Given the description of an element on the screen output the (x, y) to click on. 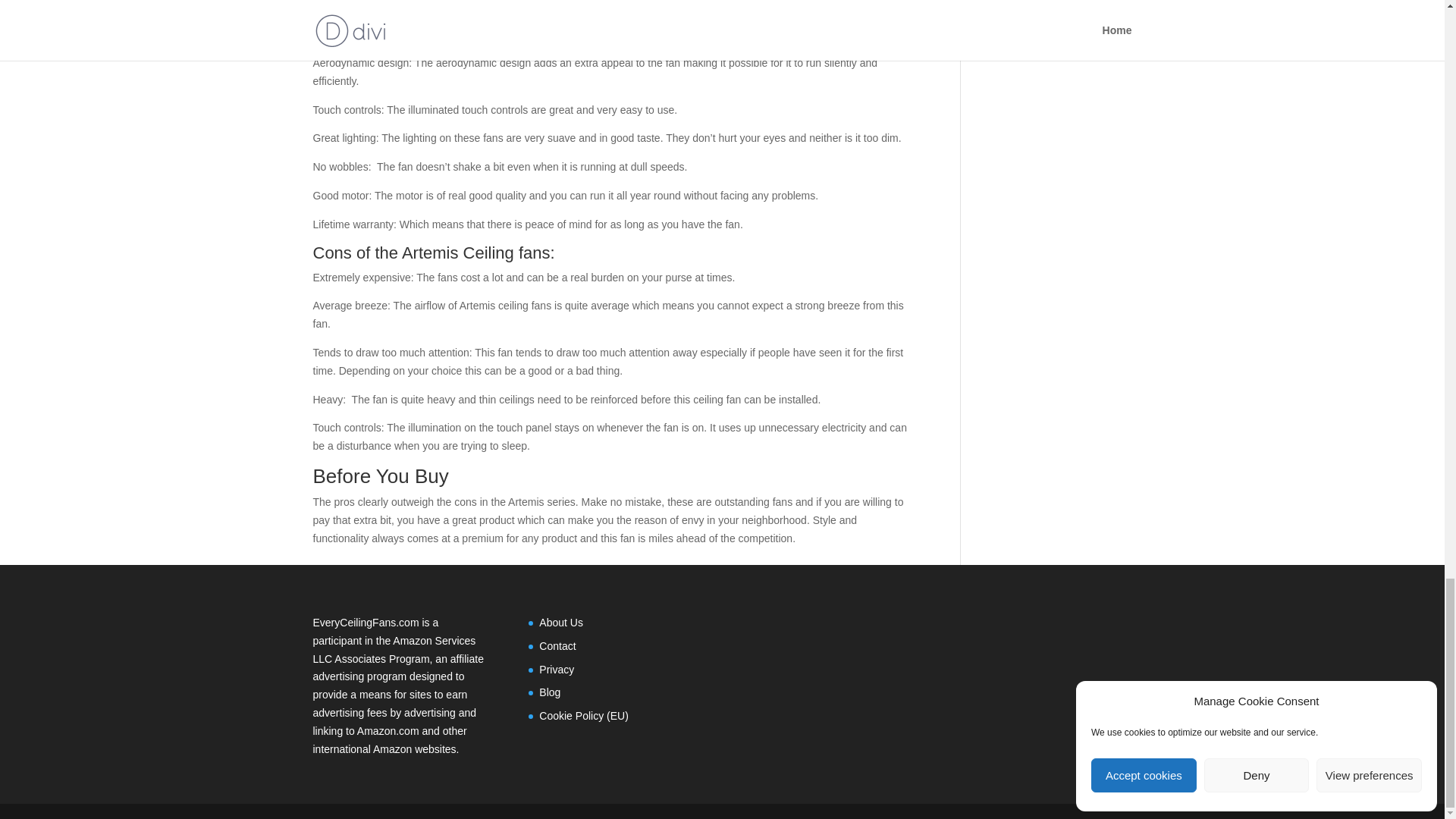
Contact (556, 645)
About Us (560, 622)
Blog (549, 692)
Privacy (555, 669)
